Given the description of an element on the screen output the (x, y) to click on. 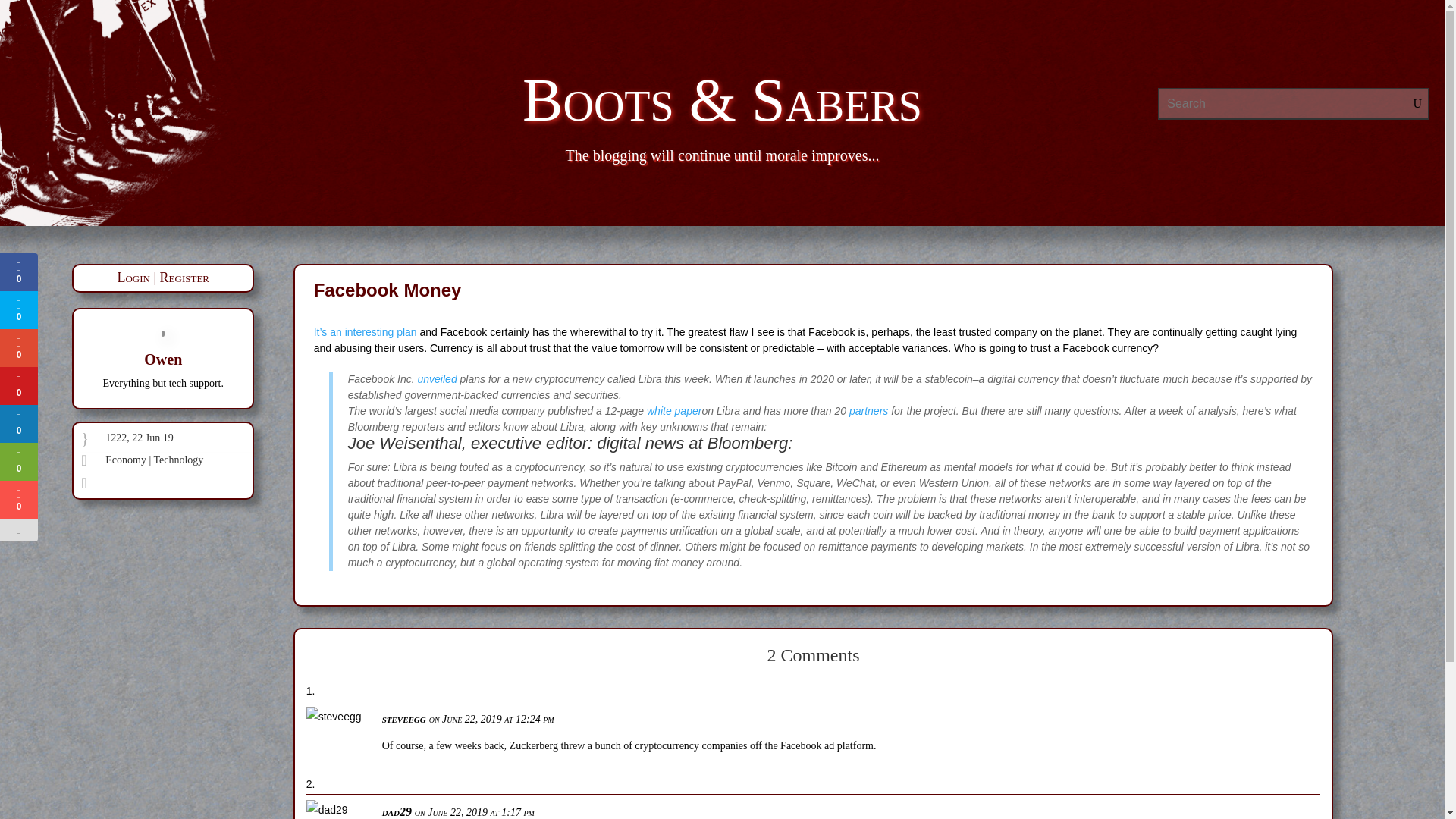
steveegg (403, 718)
white paper (673, 410)
0 (18, 423)
0 (17, 272)
Register (184, 277)
aggie-boots-96-clear (150, 113)
0 (18, 347)
Login (132, 277)
0 (18, 461)
0 (18, 499)
Economy (125, 460)
0 (18, 385)
partners (868, 410)
0 (18, 310)
Technology (177, 460)
